Given the description of an element on the screen output the (x, y) to click on. 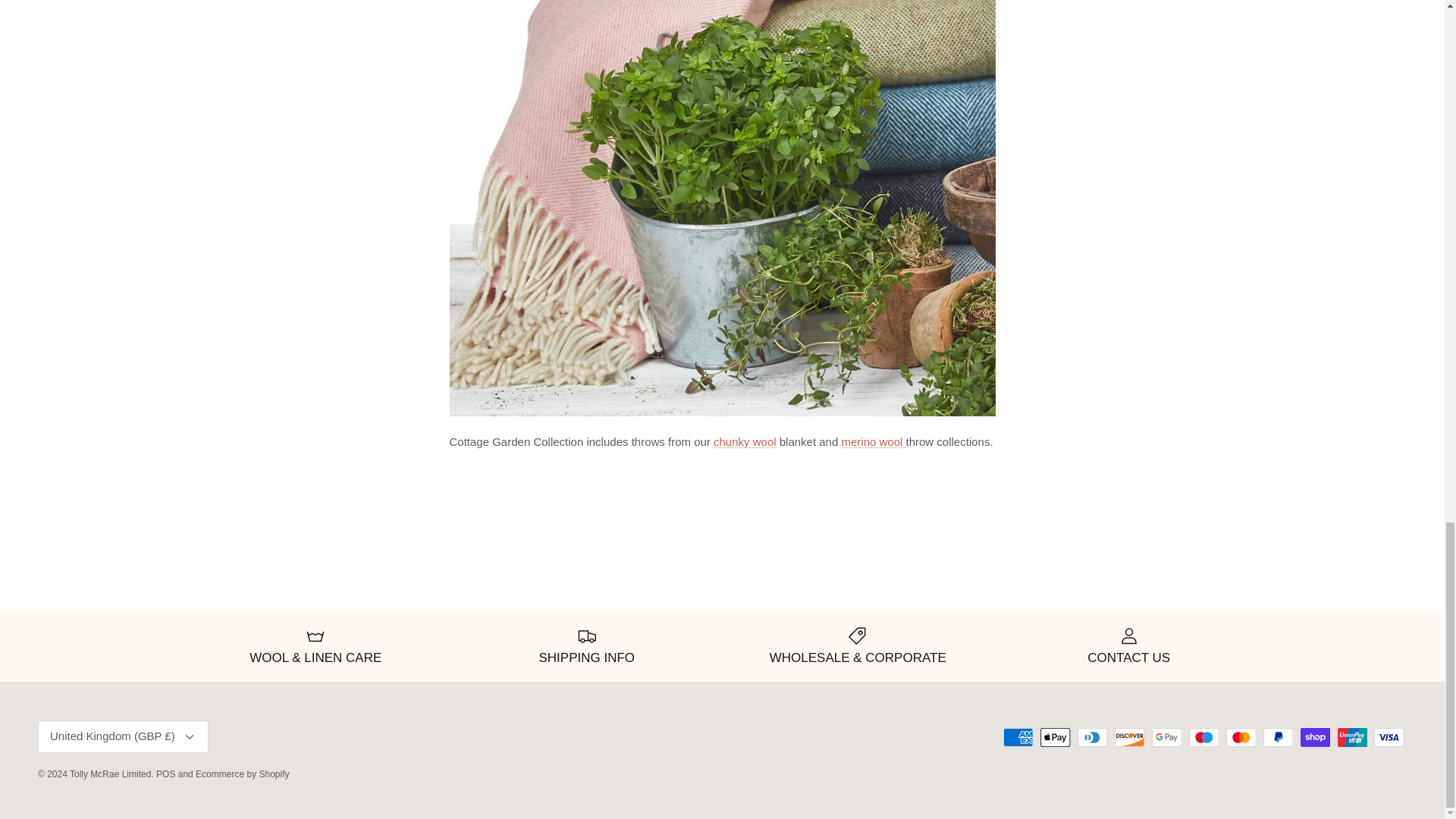
Shop Pay (1315, 737)
wool blankets (744, 440)
Diners Club (1092, 737)
Down (189, 736)
Discover (1129, 737)
Google Pay (1166, 737)
Union Pay (1352, 737)
American Express (1018, 737)
Mastercard (1240, 737)
Apple Pay (1055, 737)
PayPal (1277, 737)
Maestro (1203, 737)
Visa (1388, 737)
